Given the description of an element on the screen output the (x, y) to click on. 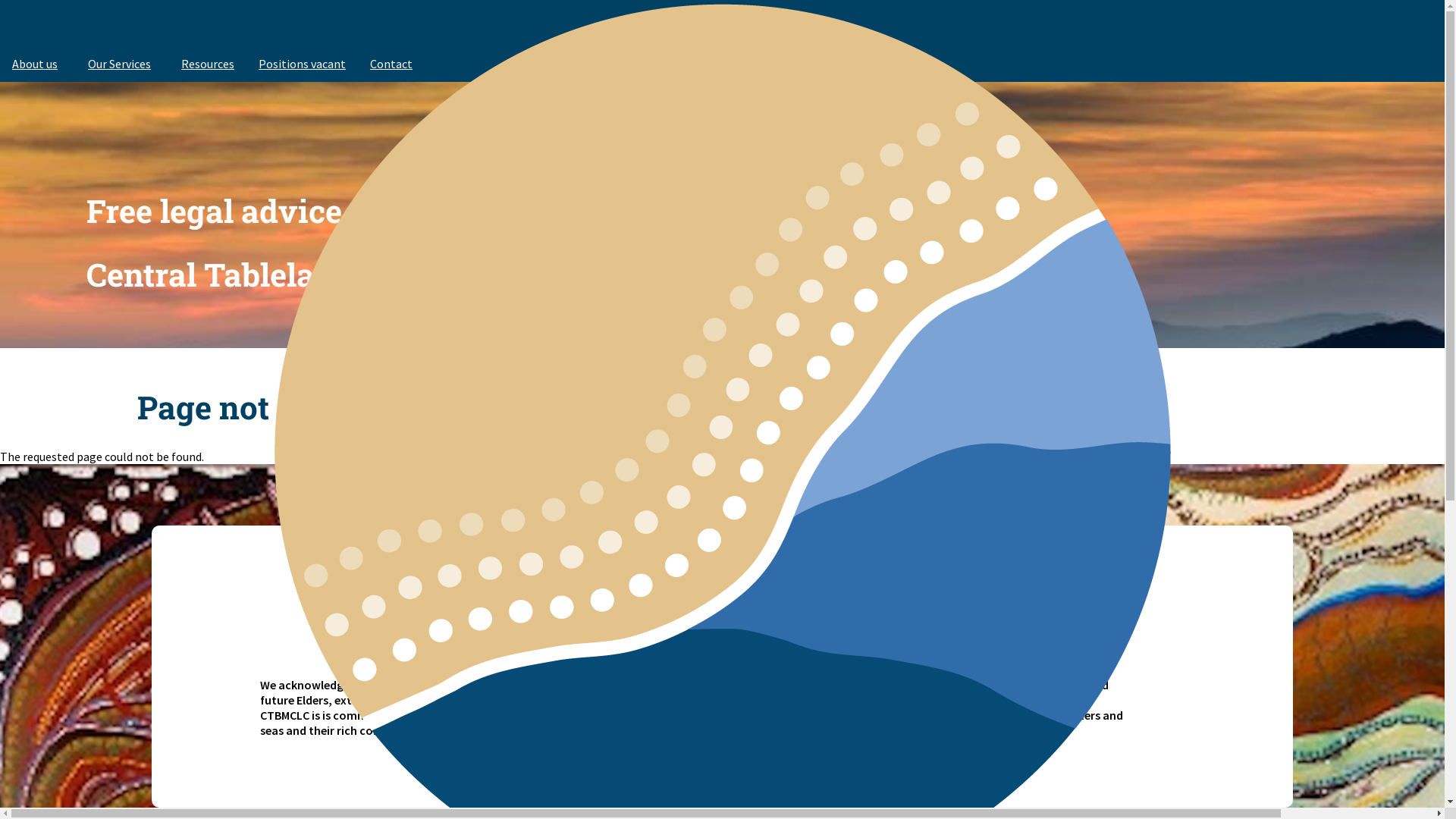
Resources Element type: text (207, 63)
About us Element type: text (37, 63)
Our Services Element type: text (122, 63)
Contact Element type: text (393, 63)
Skip to main content Element type: text (0, 0)
Positions vacant Element type: text (301, 63)
